Given the description of an element on the screen output the (x, y) to click on. 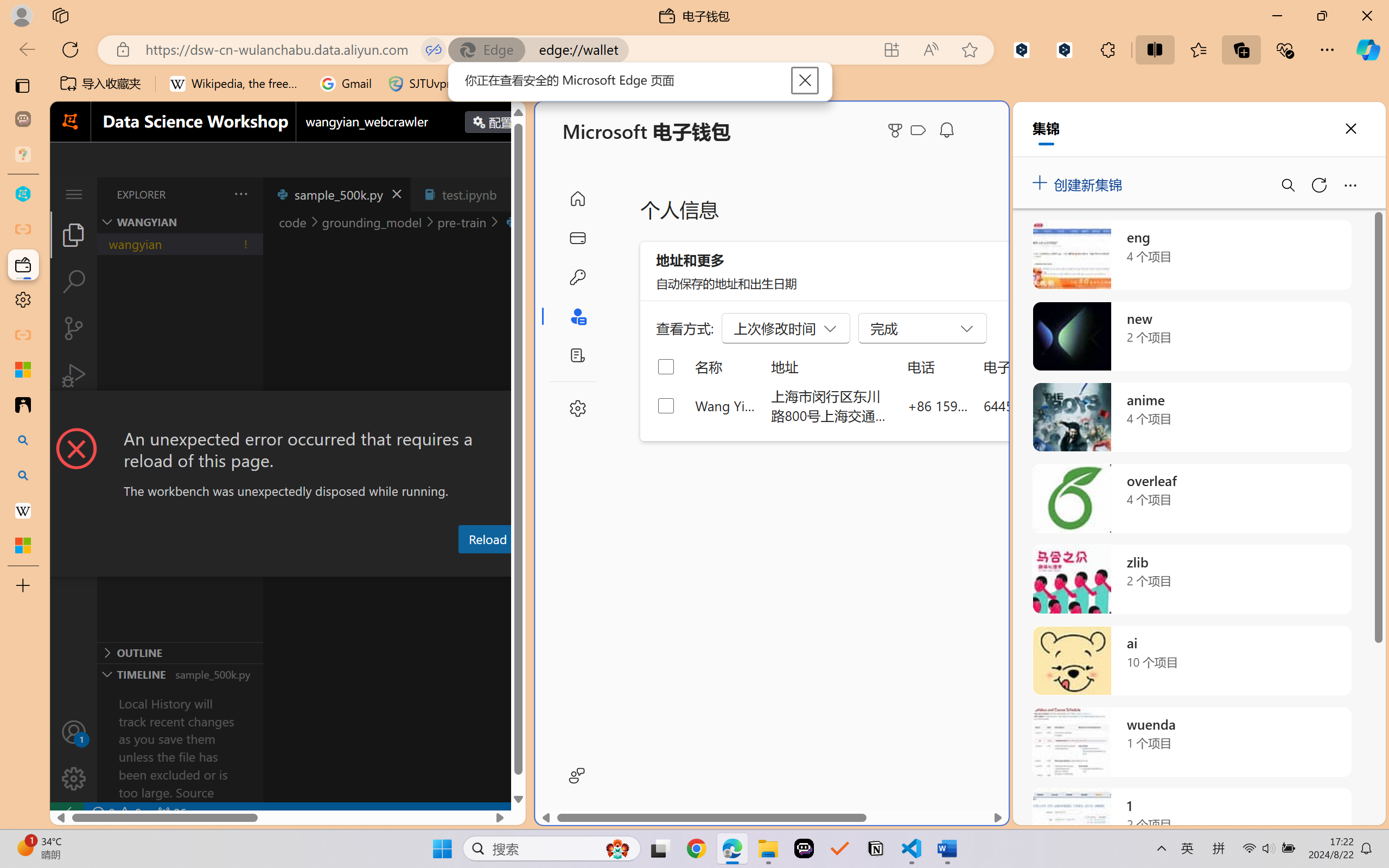
Outline Section (179, 652)
Source Control (Ctrl+Shift+G) (73, 328)
Manage (73, 755)
Microsoft Rewards (896, 129)
No Problems (115, 812)
Reload (486, 538)
